Given the description of an element on the screen output the (x, y) to click on. 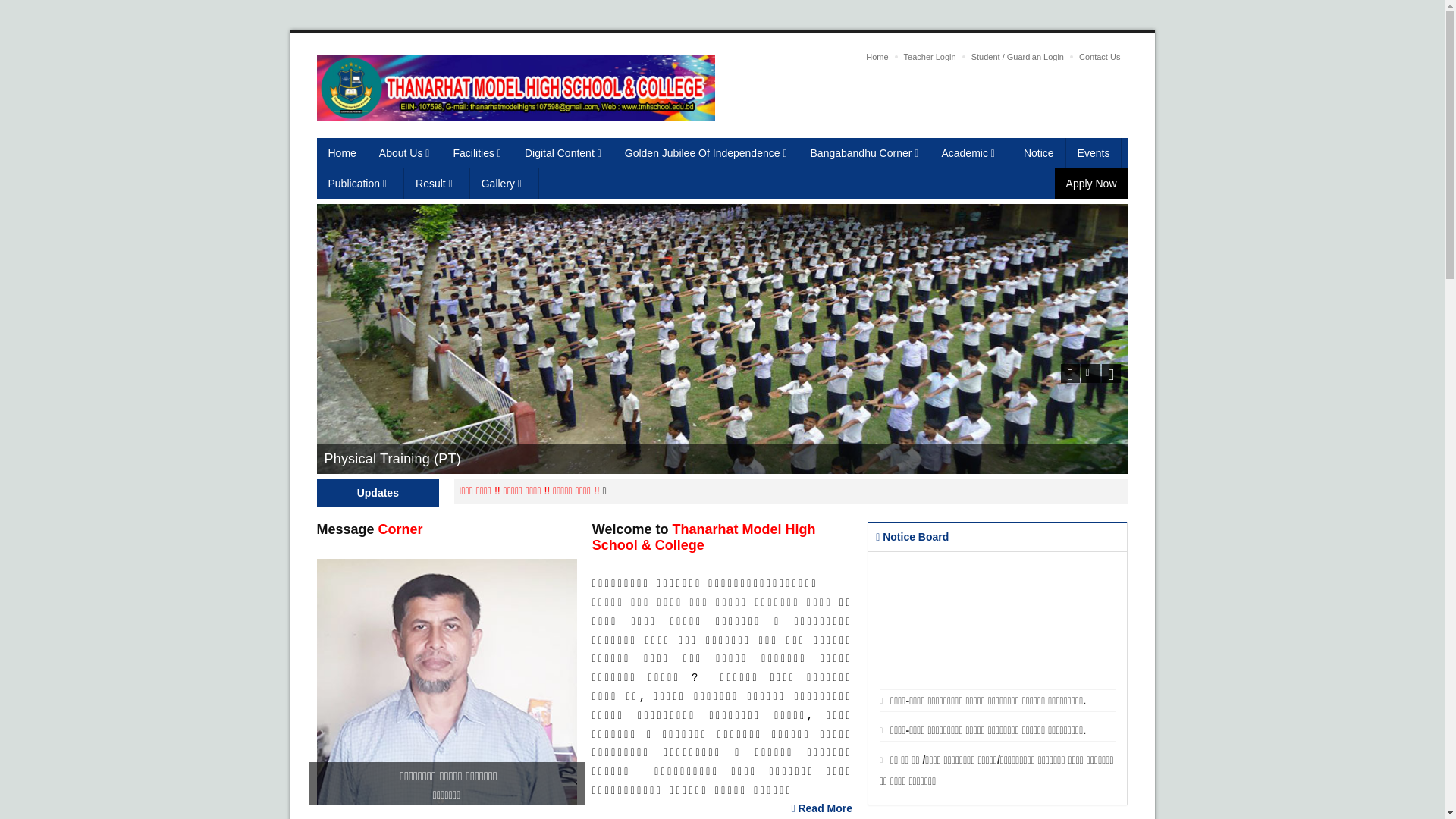
Notice Element type: text (1039, 153)
Read More Element type: text (821, 808)
Publication Element type: text (360, 183)
Teacher Login Element type: text (929, 56)
Golden Jubilee Of Independence Element type: text (706, 153)
Home Element type: text (876, 56)
Contact Us Element type: text (1099, 56)
Gallery Element type: text (504, 183)
Student / Guardian Login Element type: text (1017, 56)
Result Element type: text (437, 183)
Digital Content Element type: text (563, 153)
Home Element type: text (341, 153)
About Us Element type: text (404, 153)
Admission going on. Element type: text (447, 490)
Bangabandhu Corner Element type: text (864, 153)
Events Element type: text (1094, 153)
Apply Now Element type: text (1091, 183)
Facilities Element type: text (476, 153)
Academic Element type: text (970, 153)
